Given the description of an element on the screen output the (x, y) to click on. 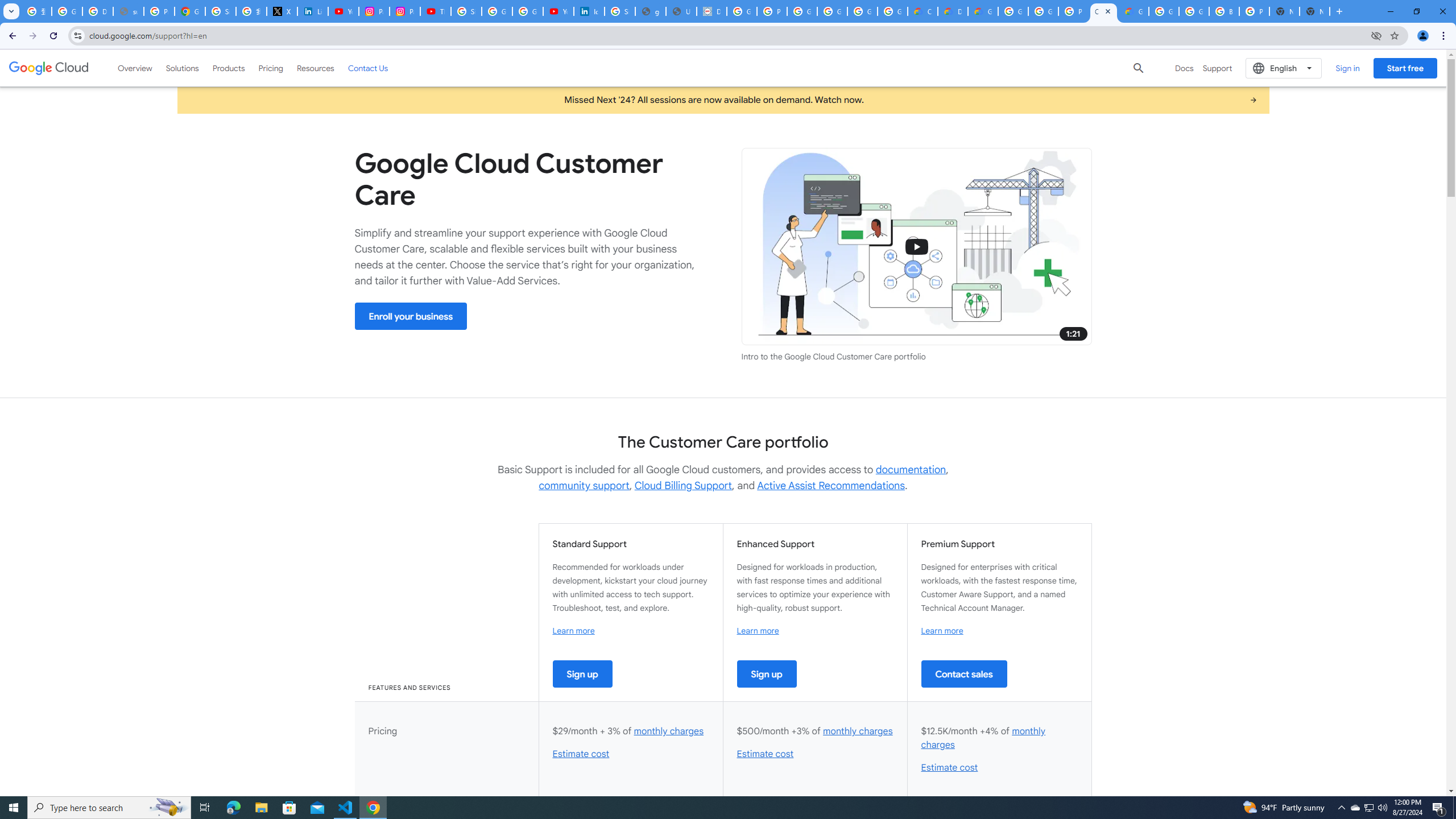
Sign in - Google Accounts (619, 11)
Customer Care | Google Cloud (922, 11)
Resources (314, 67)
X (282, 11)
Google Cloud Platform (1042, 11)
monthly charges (982, 738)
google_privacy_policy_en.pdf (650, 11)
Google Workspace - Specific Terms (862, 11)
Contact Us (368, 67)
